Given the description of an element on the screen output the (x, y) to click on. 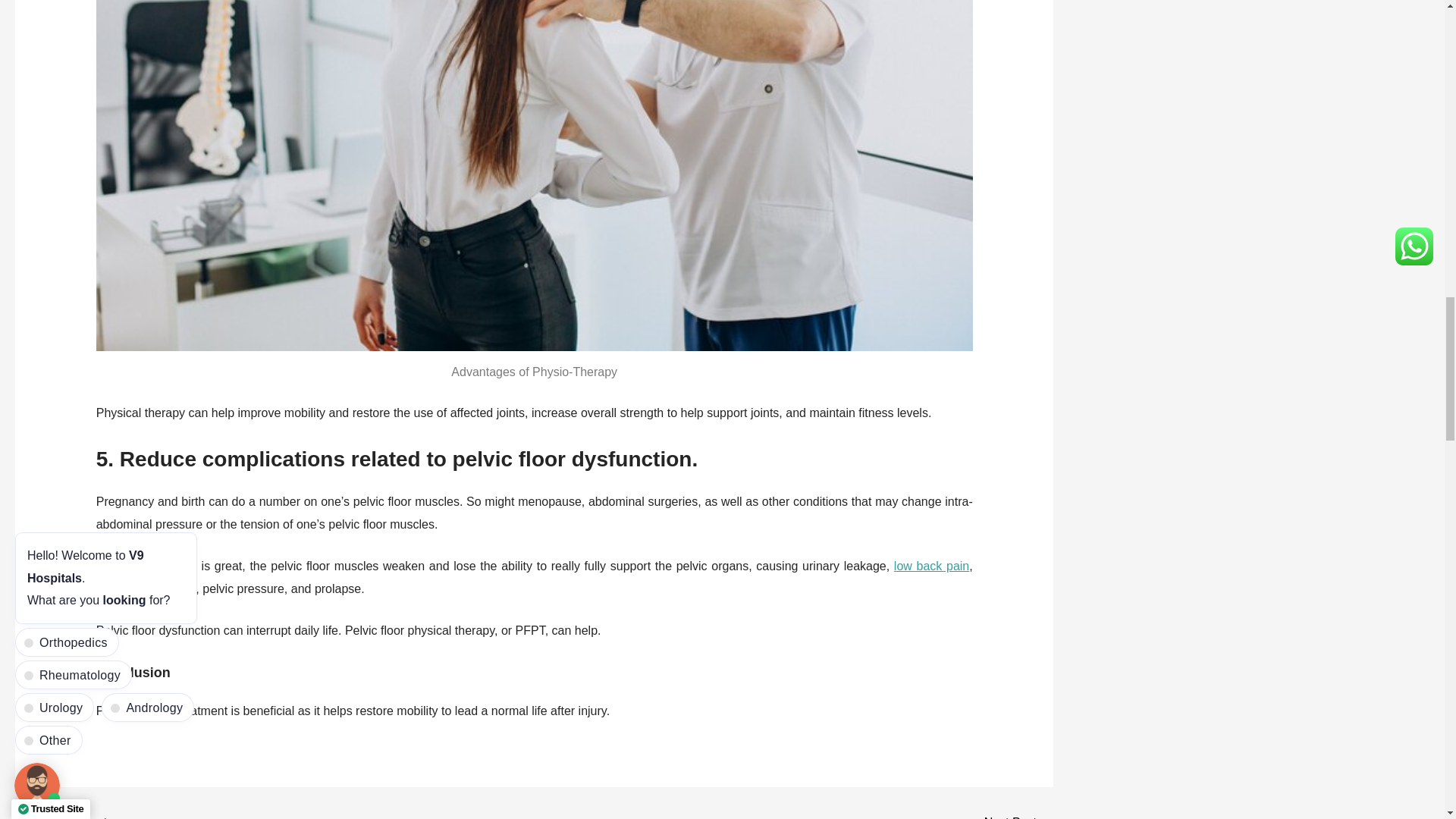
low back pain (931, 565)
Role of General Surgery in Hernia Repair (1018, 817)
Cardiology: Heart Disease, Diagnosis, and Treatment (61, 817)
